Given the description of an element on the screen output the (x, y) to click on. 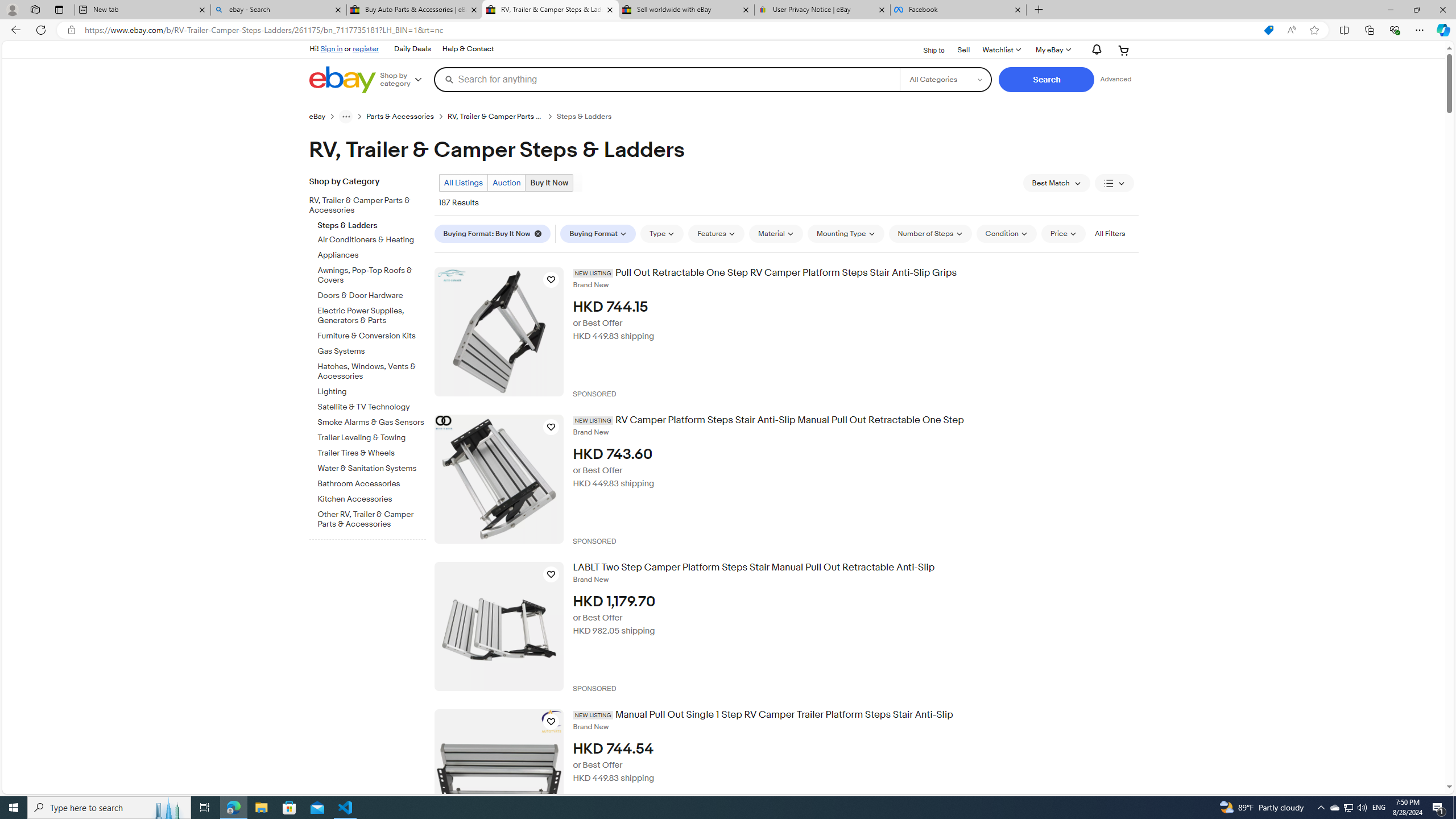
Trailer Tires & Wheels (371, 452)
My eBay (1052, 49)
RV, Trailer & Camper Steps & Ladders for sale | eBay (550, 9)
Lighting (371, 389)
Buy It Now Current view (548, 182)
Trailer Tires & Wheels (371, 450)
Type (662, 233)
Auction (506, 182)
Buying Format (598, 233)
Furniture & Conversion Kits (371, 333)
